Given the description of an element on the screen output the (x, y) to click on. 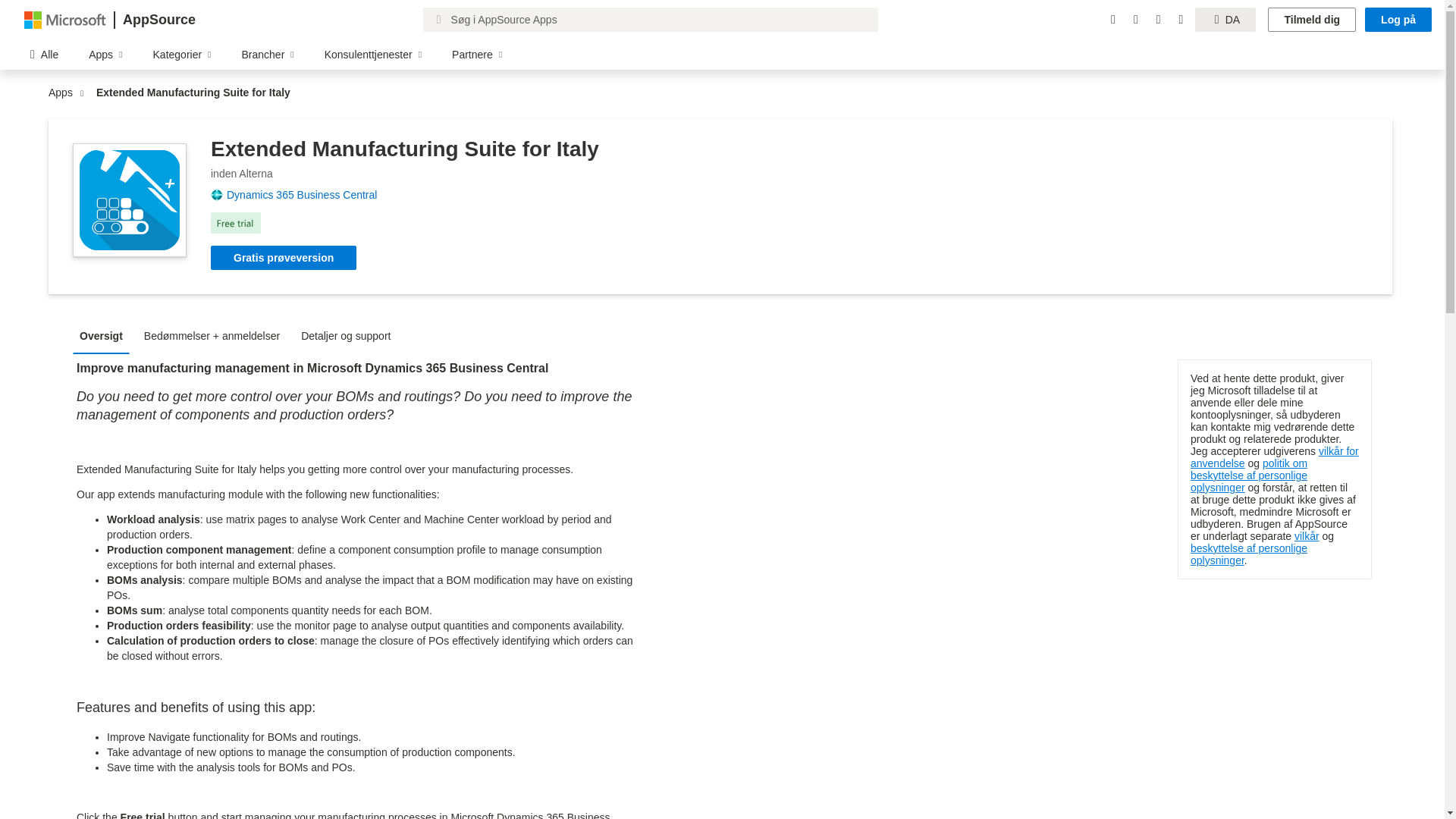
Tilmeld dig (1311, 19)
Oversigt (104, 335)
Dynamics 365 Business Central (307, 194)
Dynamics 365 Business Central (307, 194)
Apps (64, 92)
politik om beskyttelse af personlige oplysninger (1249, 475)
AppSource (158, 19)
beskyttelse af personlige oplysninger (1249, 554)
Microsoft (65, 18)
Detaljer og support (349, 335)
